Given the description of an element on the screen output the (x, y) to click on. 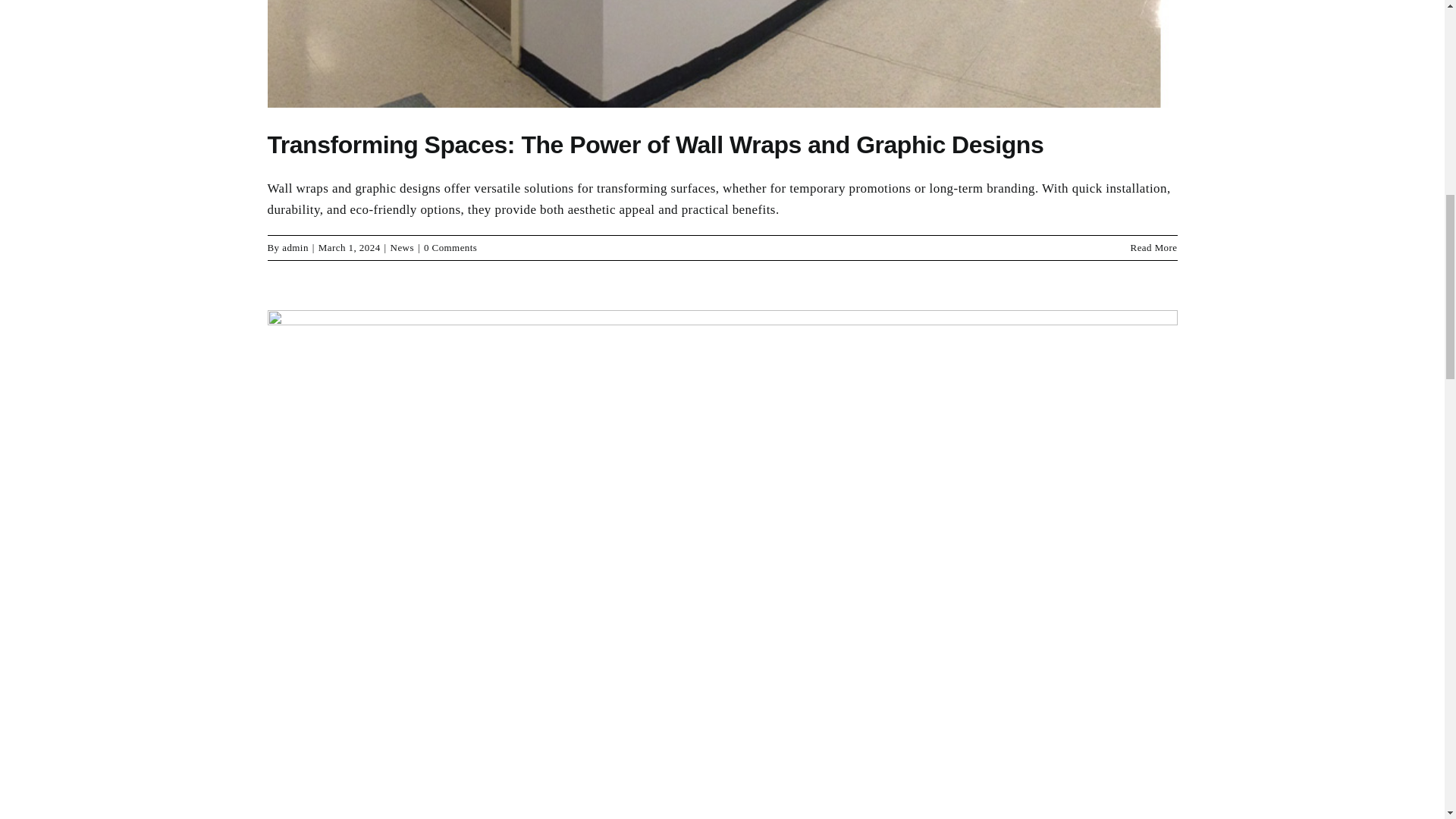
Posts by admin (295, 247)
